Given the description of an element on the screen output the (x, y) to click on. 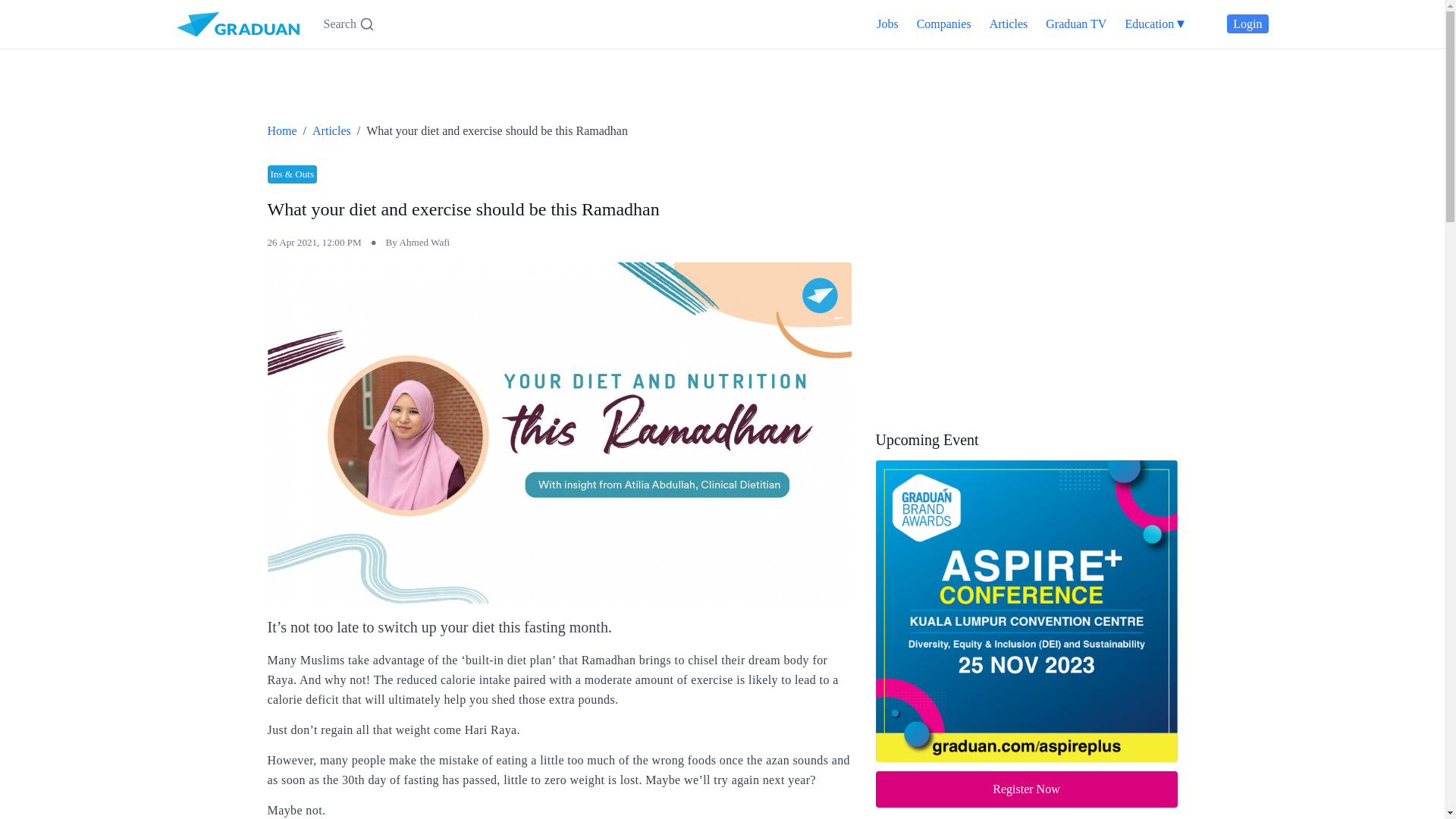
Register Now (1025, 788)
Login (1247, 23)
Graduan TV (1075, 23)
Companies (944, 23)
Home (281, 130)
Jobs (887, 23)
Articles (331, 130)
Search (348, 24)
Register Now (1025, 789)
Advertisement (988, 278)
